Given the description of an element on the screen output the (x, y) to click on. 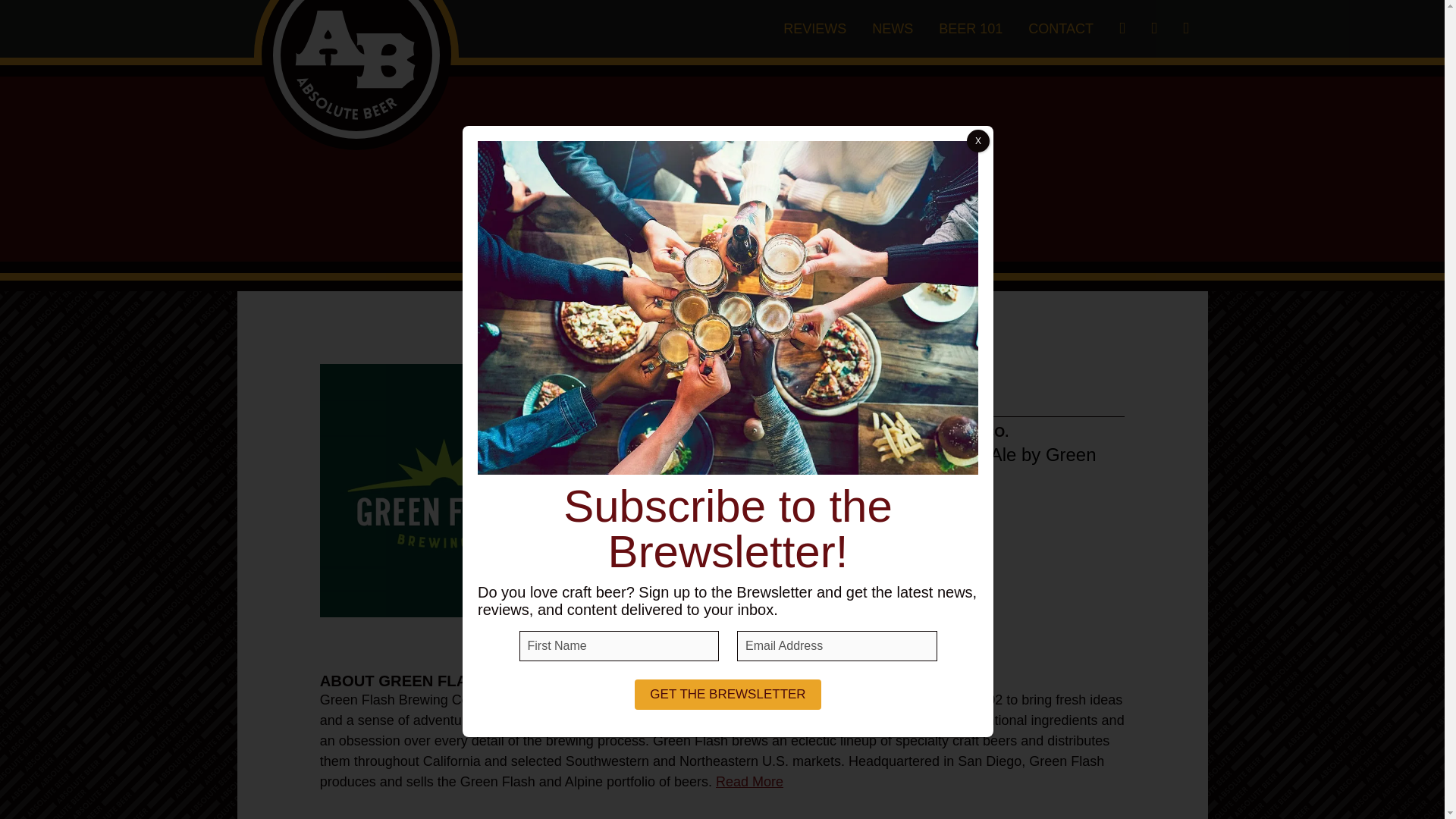
Click Here to Like Absolute Beer on Facebook (1186, 28)
Get the Brewsletter (727, 694)
Click Here to Follow Absolute Beer on Instagram (1122, 28)
Email Address (836, 645)
Click Here to Follow Absolute Beer on Instagram (1122, 28)
Click Here to Like Absolute Beer on Facebook (1186, 28)
First Name (618, 645)
X (978, 140)
Reviews (814, 28)
Click Here to Follow Absolute Beer on Twitter (1154, 28)
Click Here to Follow Absolute Beer on Twitter (1154, 28)
NEWS (892, 28)
CONTACT (1060, 28)
News (892, 28)
Read More (749, 781)
